Given the description of an element on the screen output the (x, y) to click on. 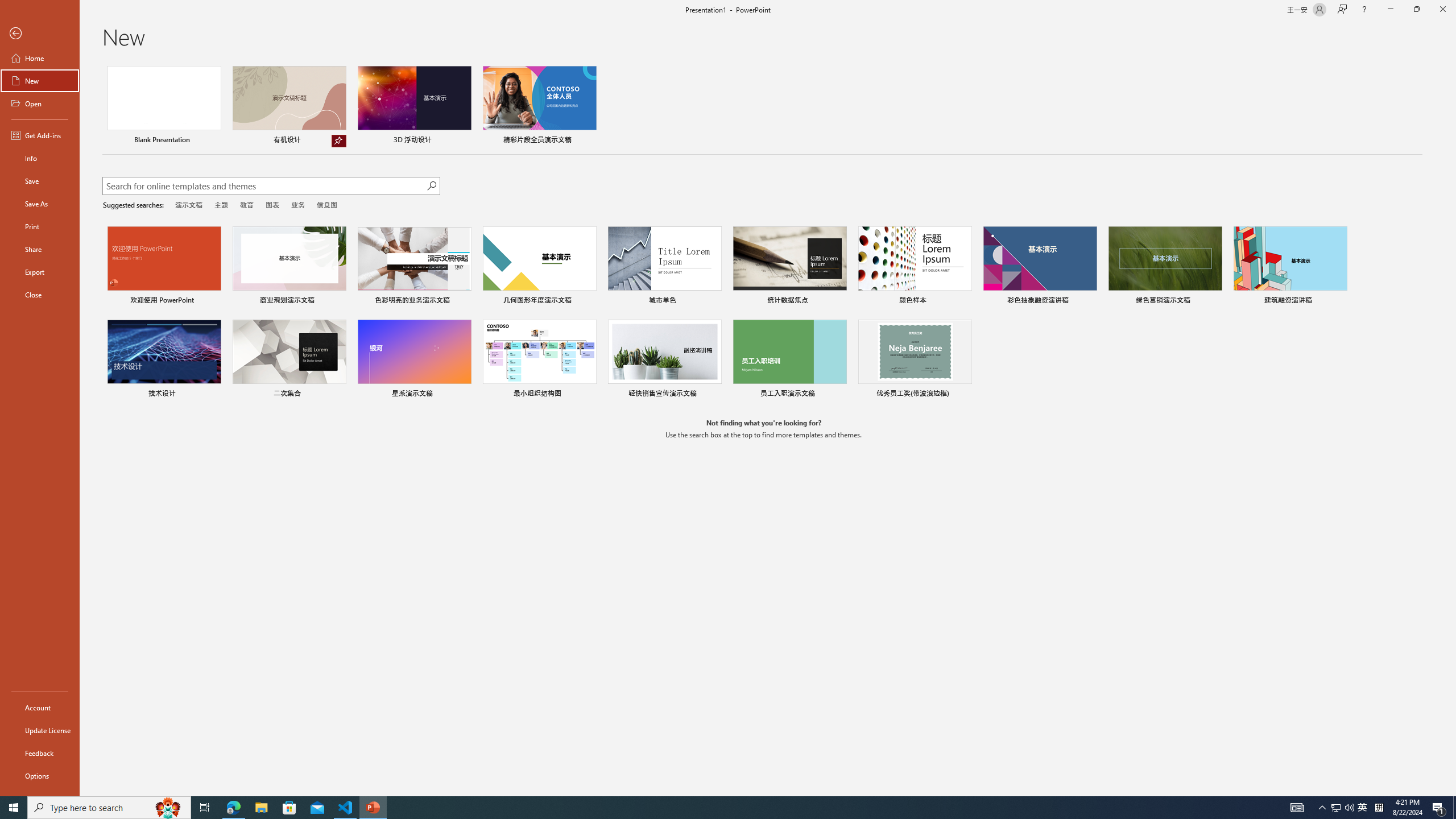
Account (40, 707)
Unpin from list (338, 141)
Blank Presentation (164, 106)
Get Add-ins (40, 134)
Pin to list (964, 394)
Print (40, 225)
New (40, 80)
